Given the description of an element on the screen output the (x, y) to click on. 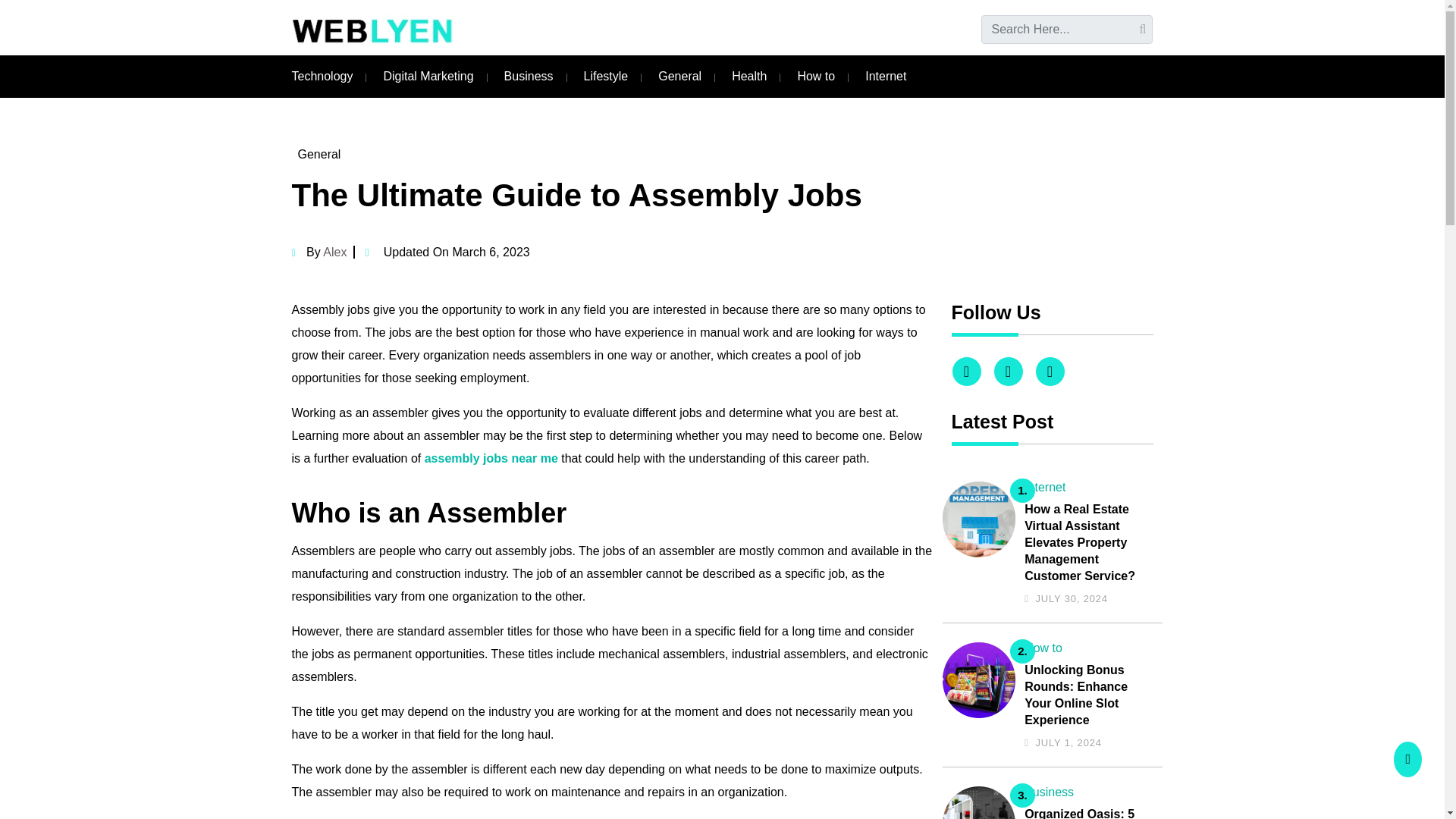
Technology (321, 75)
assembly jobs near me (491, 458)
Unlocking Bonus Rounds: Enhance Your Online Slot Experience (1089, 694)
Internet (884, 75)
How to (815, 75)
Business (528, 75)
Search for: (1067, 29)
How to (1043, 647)
Lifestyle (605, 75)
Digital Marketing (427, 75)
General (318, 154)
Business (1049, 791)
Alex (334, 251)
General (679, 75)
